Given the description of an element on the screen output the (x, y) to click on. 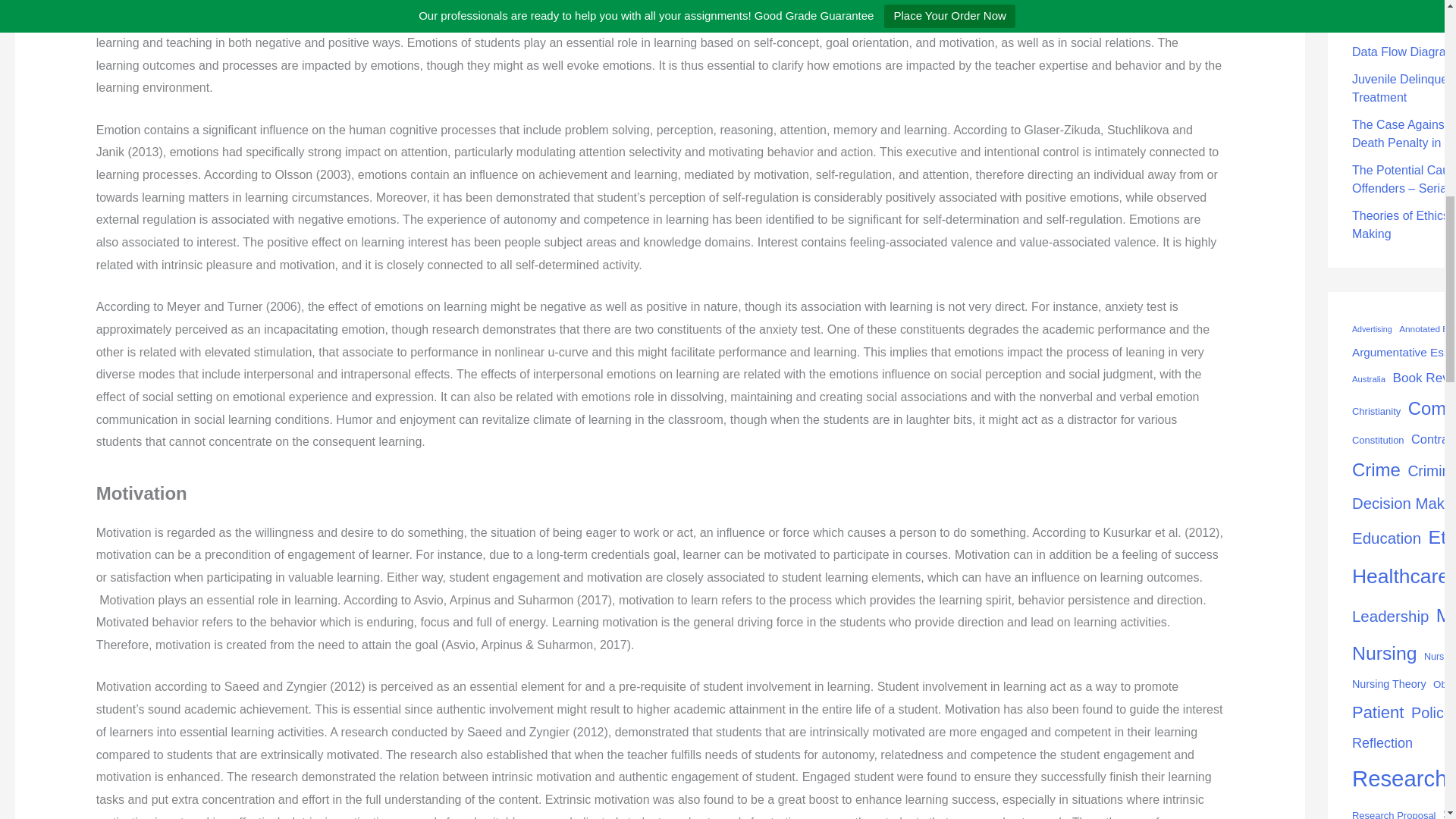
Annotated Bibliography (1427, 330)
Christianity (1376, 411)
Healthcare (1400, 576)
Communication (1431, 408)
Decision Making (1404, 503)
Advertising (1371, 329)
Book Review (1423, 377)
Criminal Justice (1431, 471)
Argumentative Essay (1404, 352)
Contract (1433, 439)
